Given the description of an element on the screen output the (x, y) to click on. 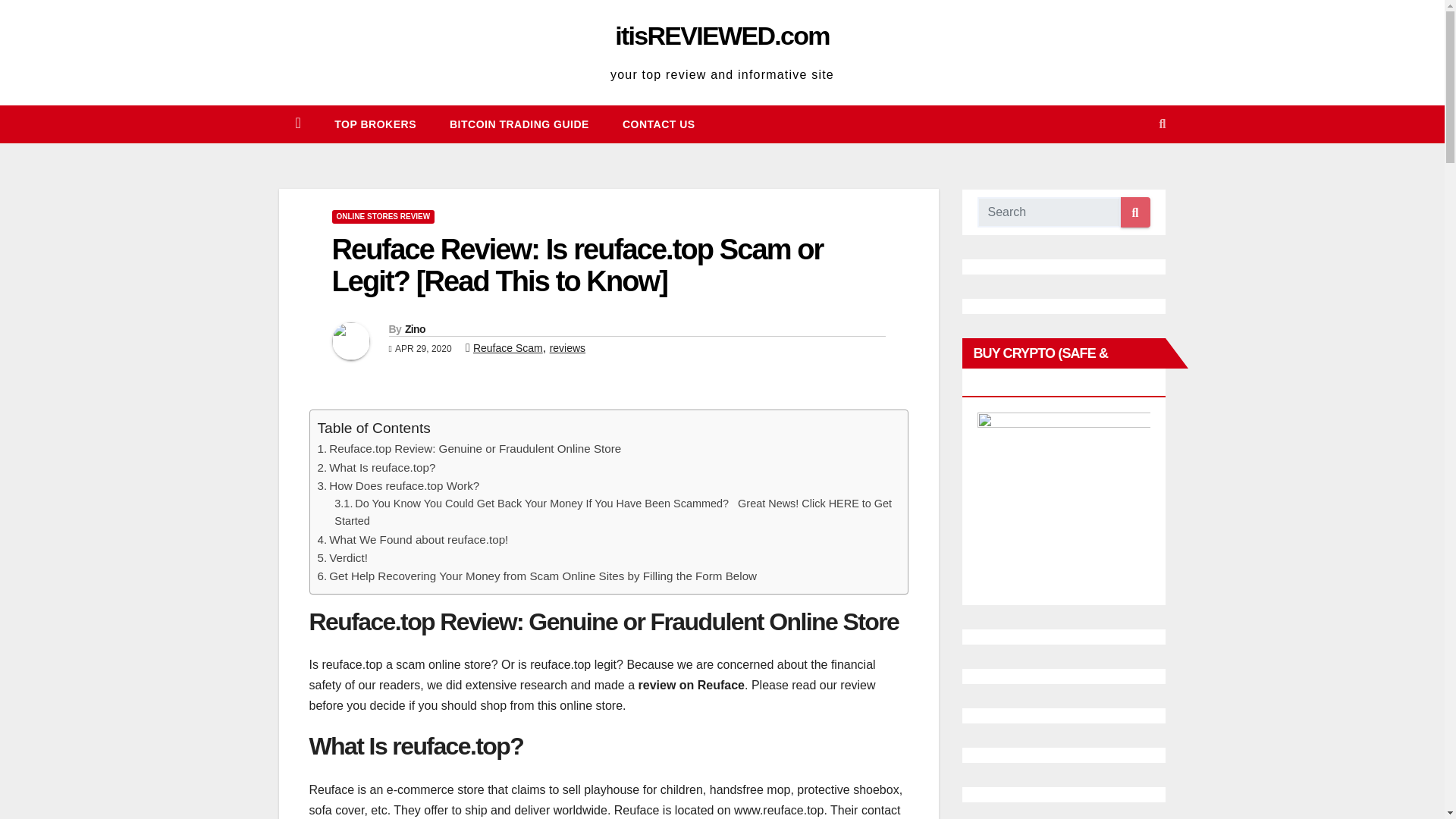
TOP BROKERS (374, 124)
What We Found about reuface.top! (418, 539)
How Does reuface.top Work? (404, 485)
BITCOIN TRADING GUIDE (518, 124)
Reuface.top Review: Genuine or Fraudulent Online Store (475, 448)
TOP BROKERS (374, 124)
What Is reuface.top? (382, 467)
Verdict! (348, 557)
Zino (414, 328)
